Given the description of an element on the screen output the (x, y) to click on. 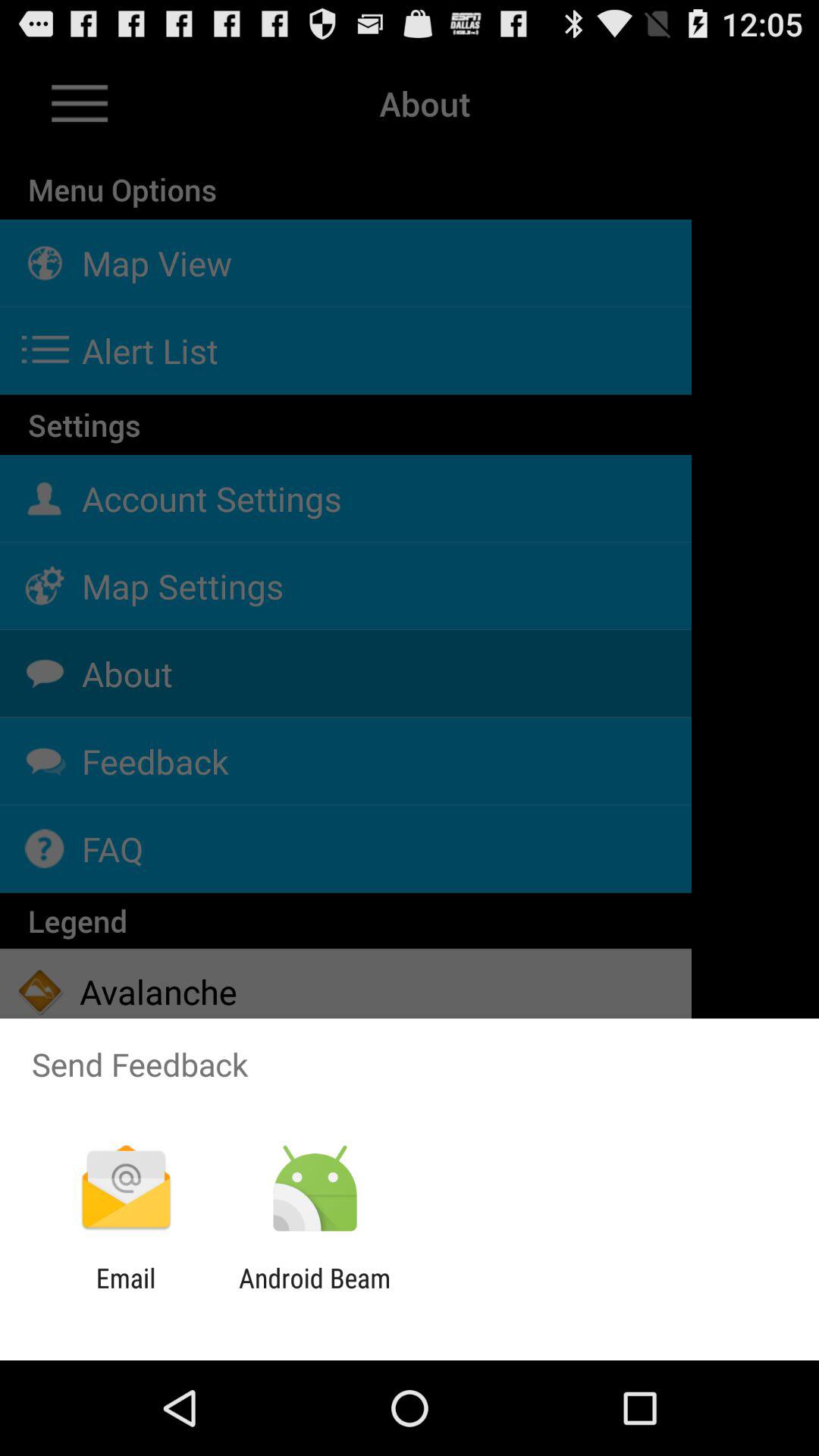
tap the icon to the right of email app (314, 1293)
